Given the description of an element on the screen output the (x, y) to click on. 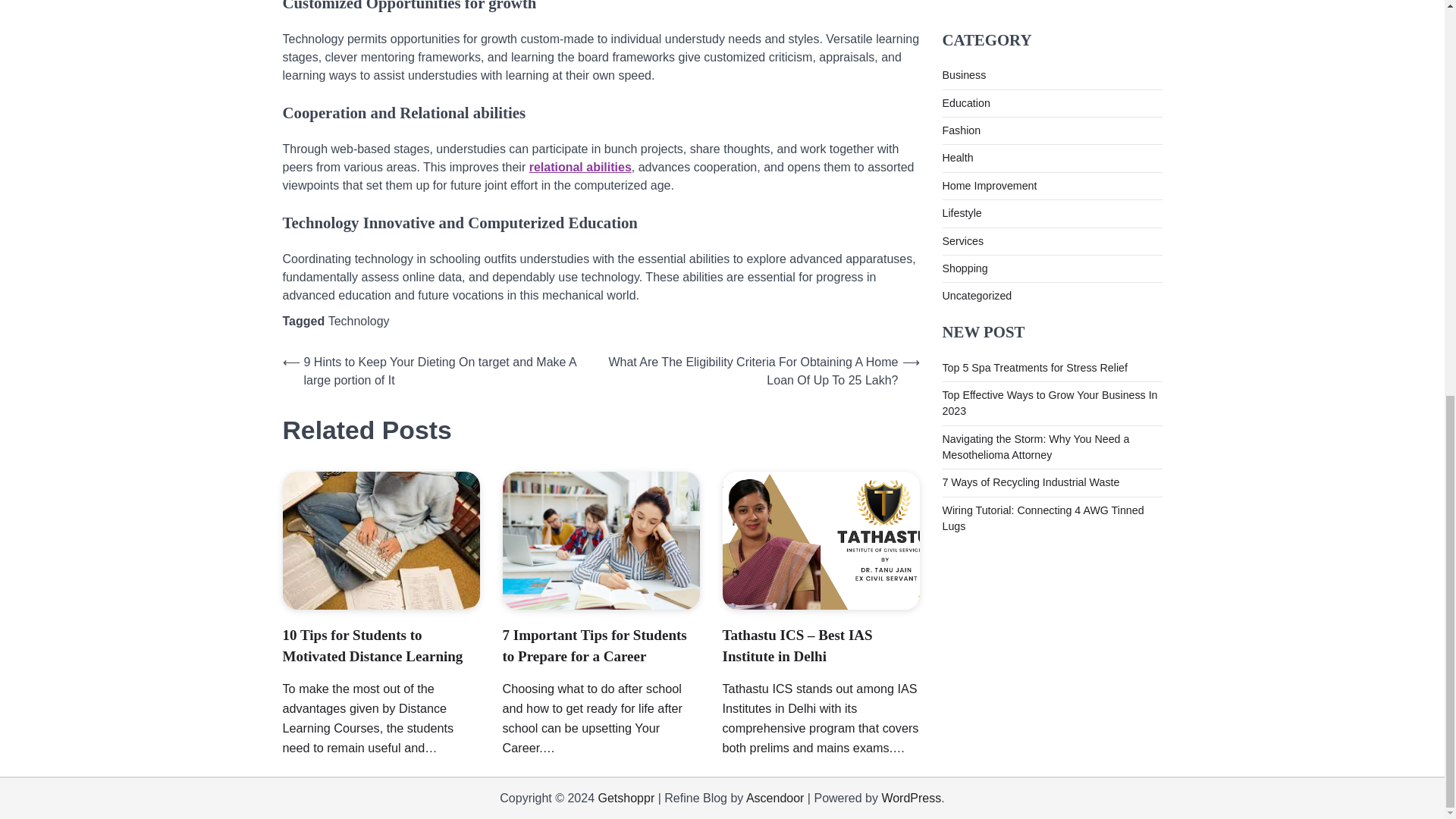
Getshoppr (626, 797)
relational abilities (580, 166)
Technology (359, 320)
Ascendoor (775, 797)
7 Important Tips for Students to Prepare for a Career (593, 646)
10 Tips for Students to Motivated Distance Learning (372, 646)
